Given the description of an element on the screen output the (x, y) to click on. 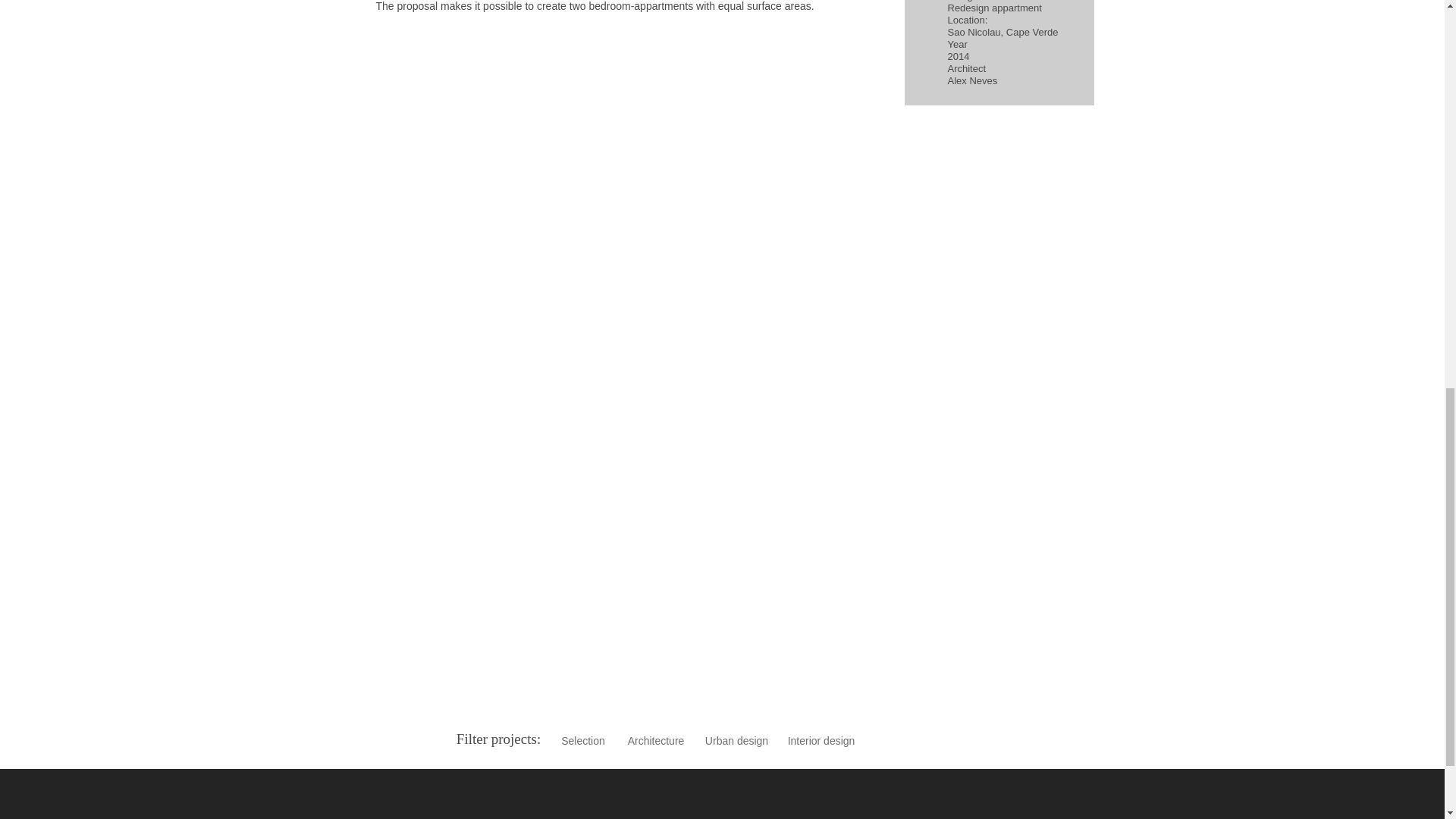
Architecture (656, 741)
Urban design (735, 741)
Interior design (821, 741)
Selection (582, 741)
